Given the description of an element on the screen output the (x, y) to click on. 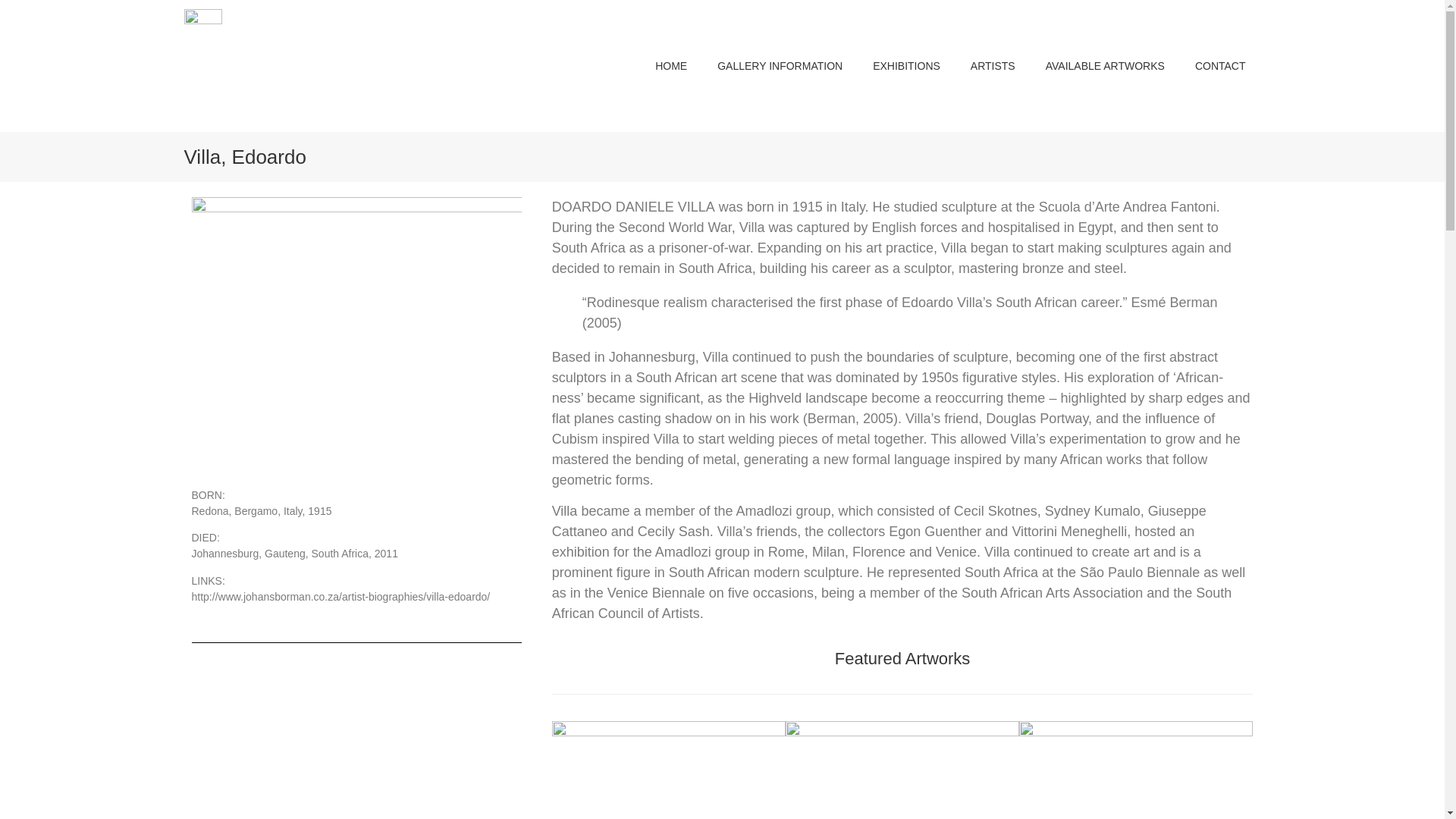
AVAILABLE ARTWORKS (1104, 65)
ARTISTS (992, 65)
GALLERY INFORMATION (779, 65)
HOME (670, 65)
EXHIBITIONS (906, 65)
CONTACT (1219, 65)
